Given the description of an element on the screen output the (x, y) to click on. 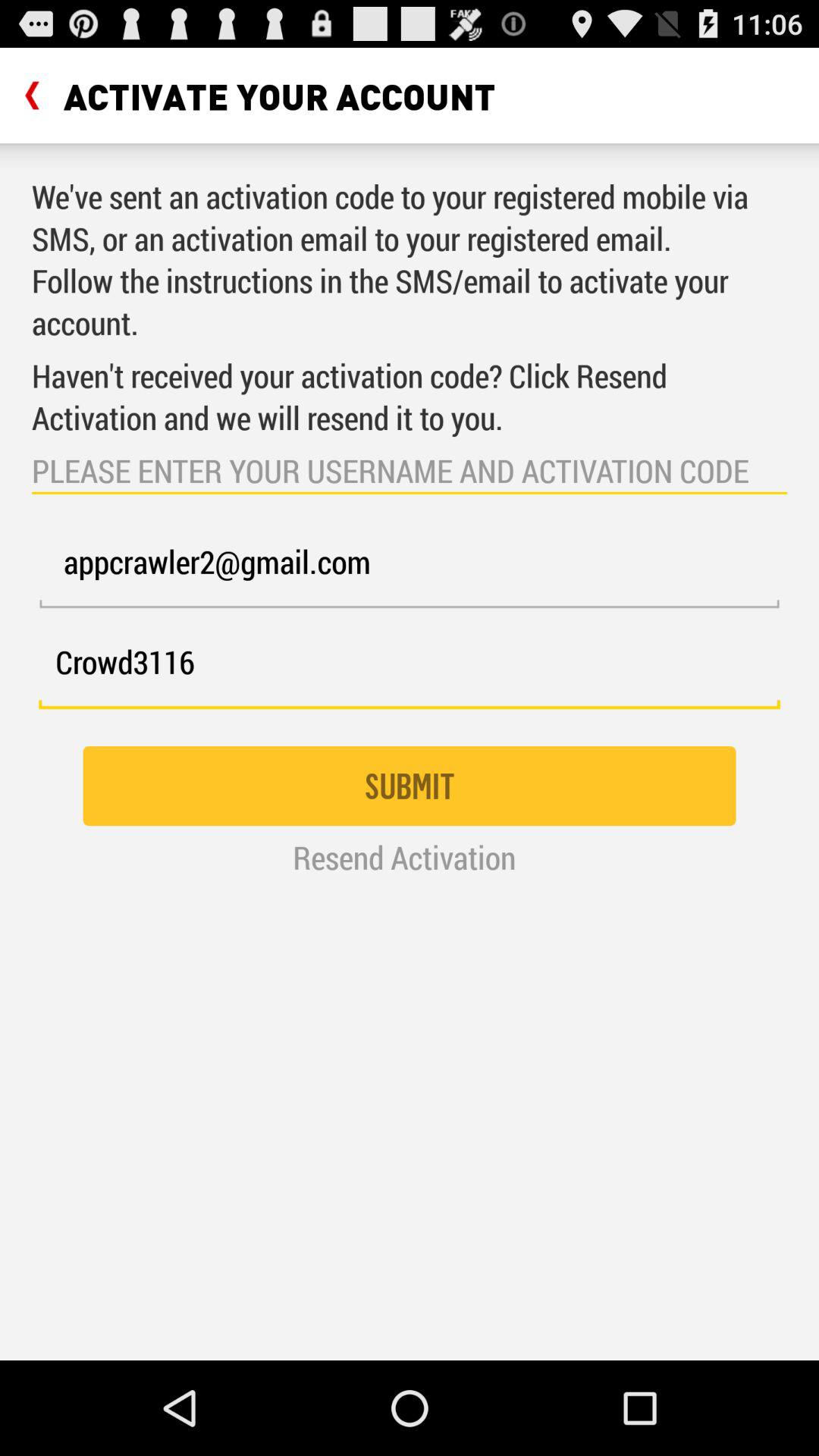
scroll until the appcrawler2@gmail.com icon (409, 570)
